Given the description of an element on the screen output the (x, y) to click on. 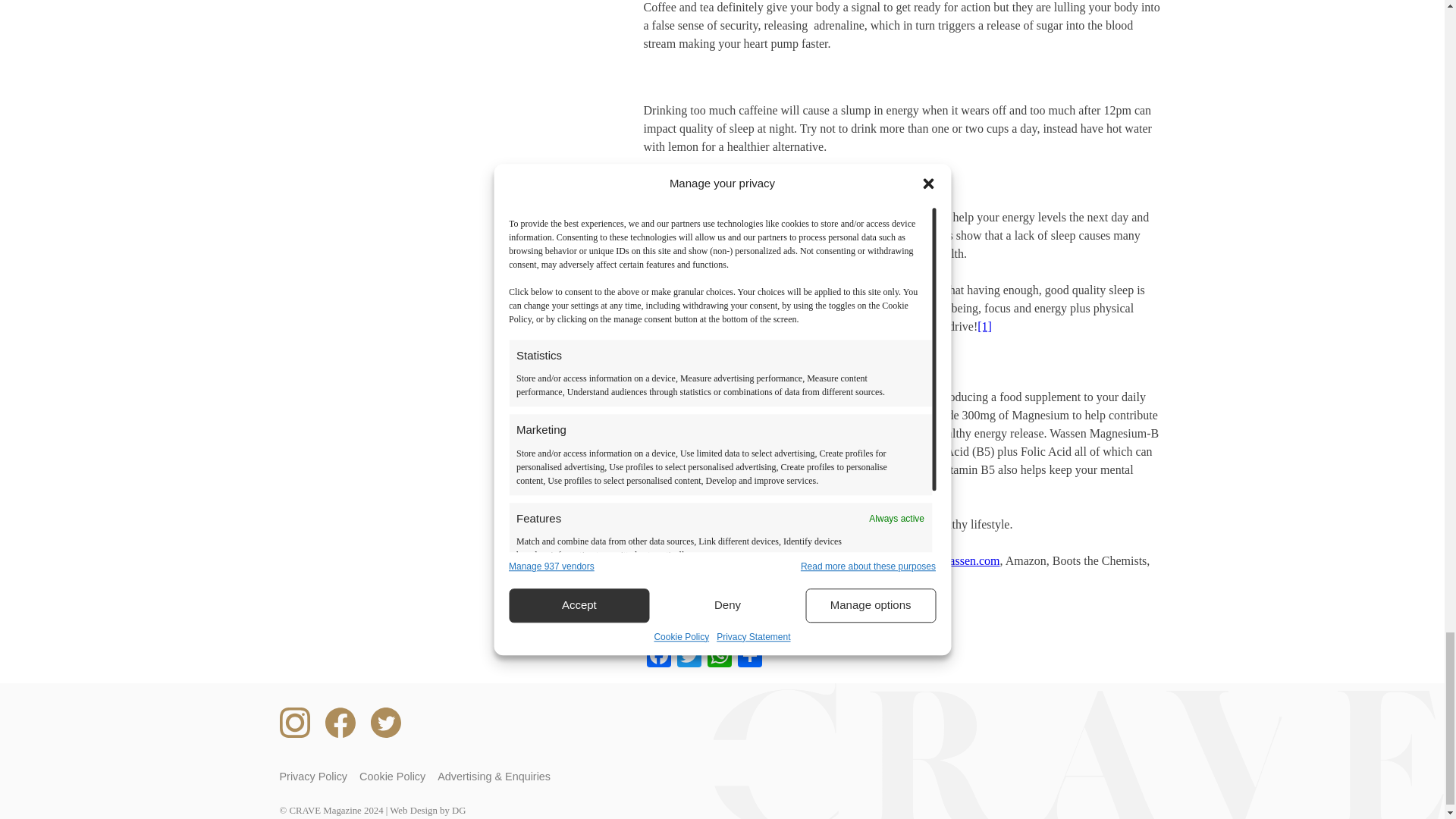
Wassen Magnesium-B (738, 414)
Craving some Sukin Skincare? (723, 615)
WhatsApp (718, 656)
www.wassen.com (955, 560)
WhatsApp (718, 656)
Share (748, 656)
Twitter (687, 656)
Twitter (687, 656)
Facebook (657, 656)
Facebook (657, 656)
